Given the description of an element on the screen output the (x, y) to click on. 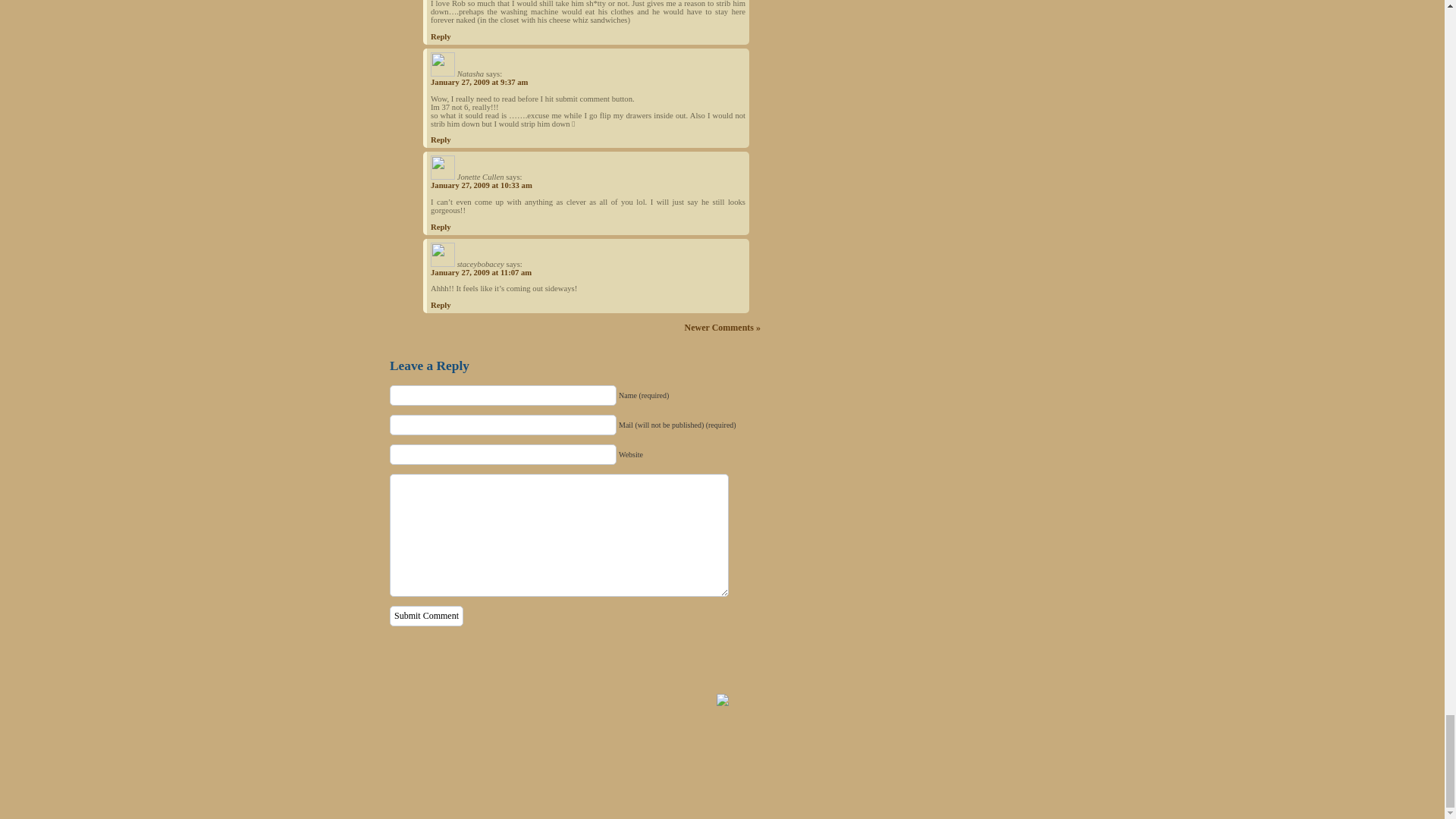
Submit Comment (426, 616)
